Given the description of an element on the screen output the (x, y) to click on. 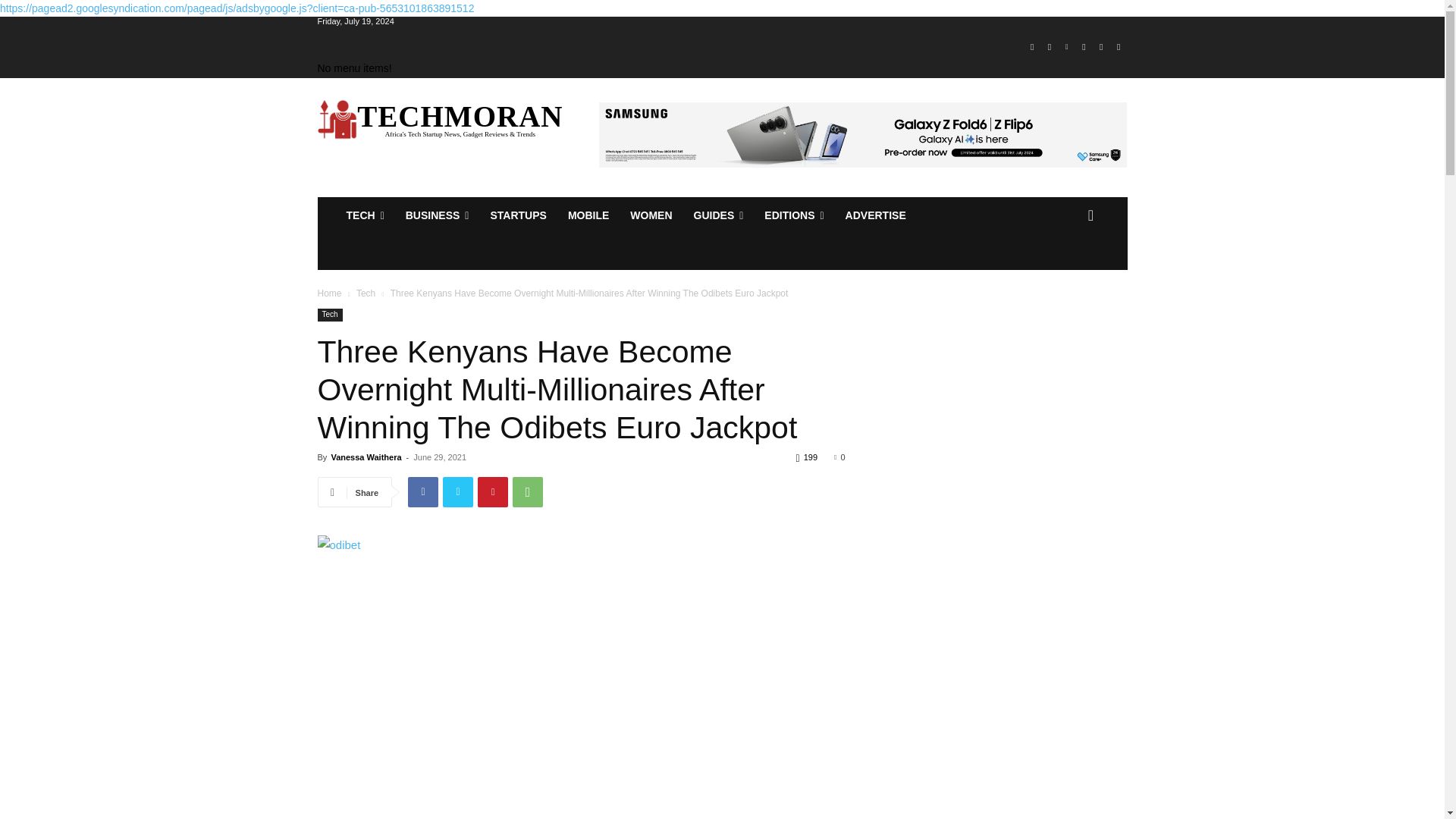
Youtube (1117, 47)
Facebook (1032, 47)
GUIDES (718, 215)
Twitter (1101, 47)
MOBILE (588, 215)
STARTUPS (517, 215)
TECH (364, 215)
BUSINESS (437, 215)
View all posts in Tech (365, 293)
Telegram (1084, 47)
Mobile (588, 215)
Instagram (1049, 47)
Linkedin (1066, 47)
WOMEN (651, 215)
